Given the description of an element on the screen output the (x, y) to click on. 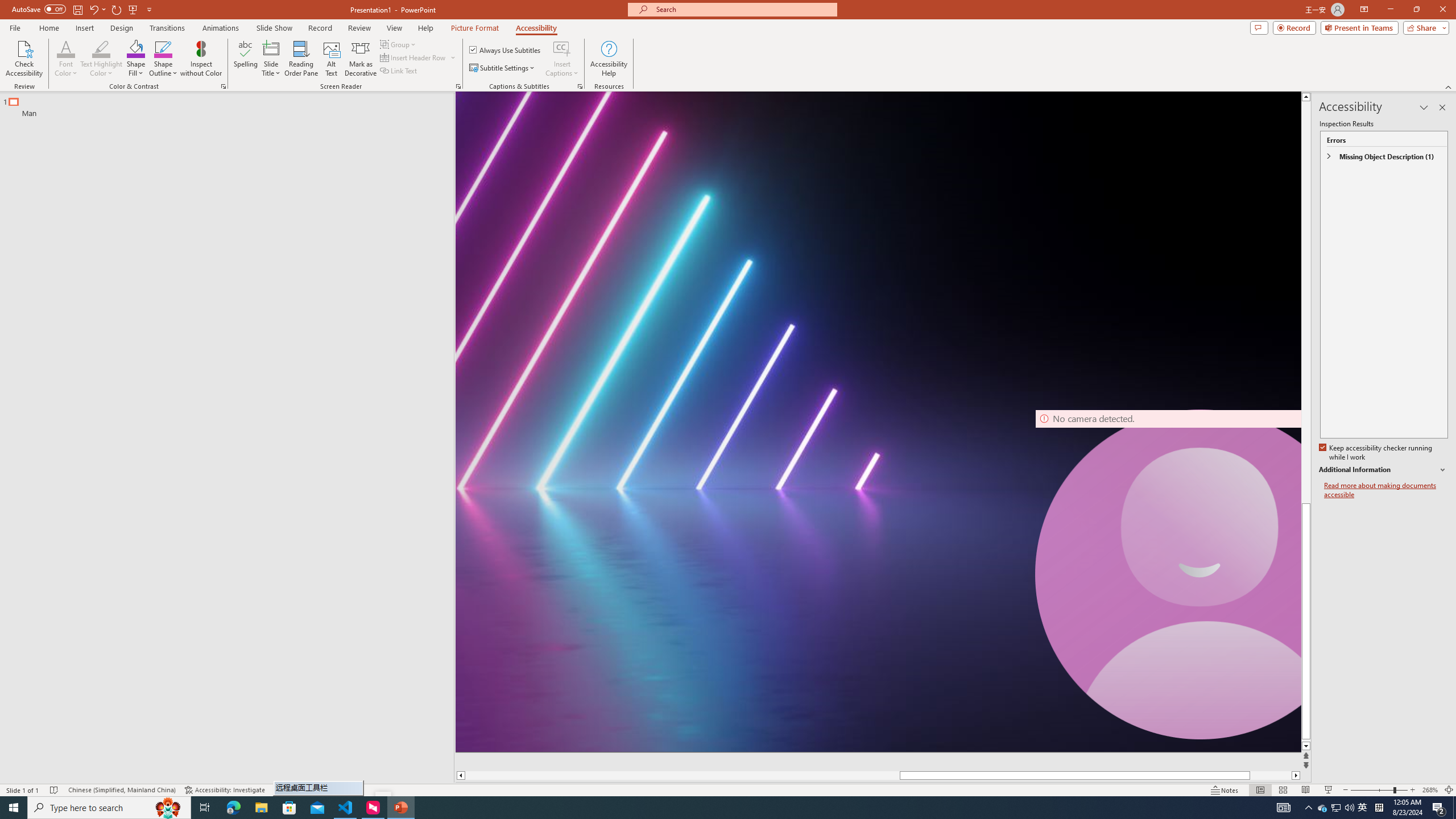
Task Pane Options (1423, 107)
Rectangle (221, 437)
Subtitle Settings (502, 67)
Additional Information (1383, 469)
Read more about making documents accessible (1385, 489)
